Given the description of an element on the screen output the (x, y) to click on. 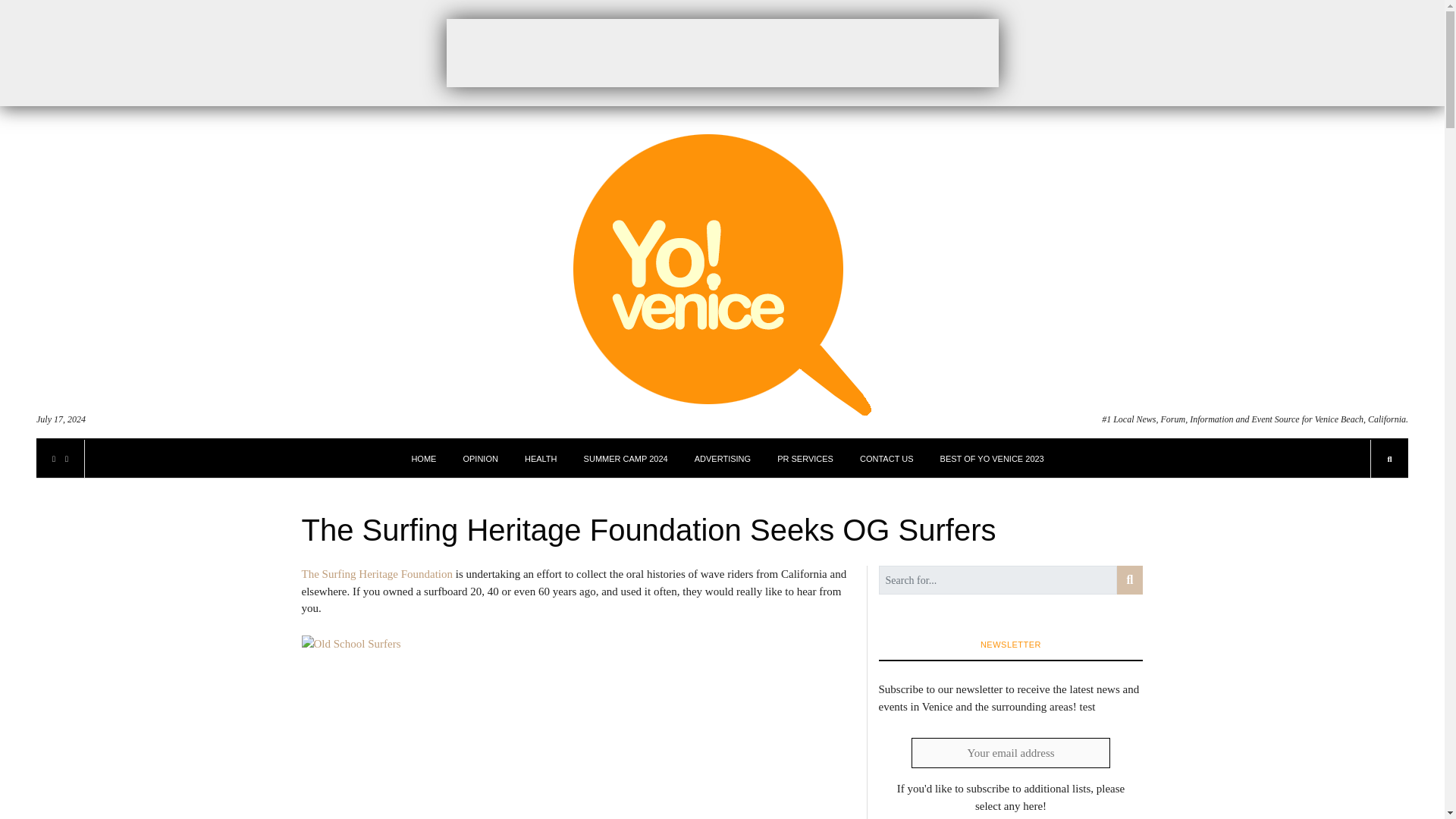
HOME (422, 458)
ADVERTISING (722, 458)
OPINION (480, 458)
SUMMER CAMP 2024 (625, 458)
HEALTH (540, 458)
Old School Surfers by www.YoVenice.com, on Flickr (578, 727)
The Surfing Heritage Foundation (376, 573)
3rd party ad content (721, 52)
PR SERVICES (804, 458)
CONTACT US (887, 458)
BEST OF YO VENICE 2023 (991, 458)
